Given the description of an element on the screen output the (x, y) to click on. 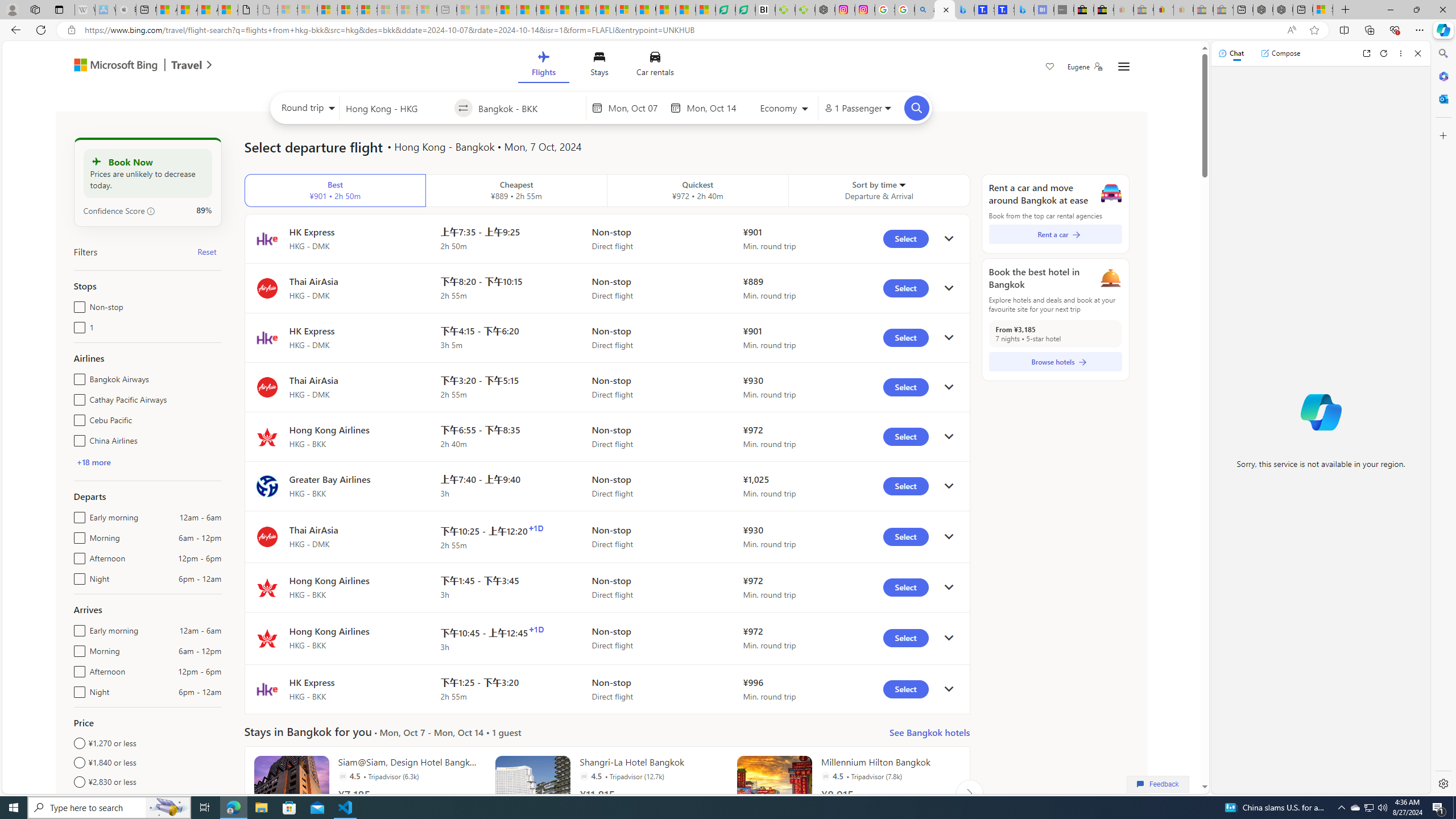
Microsoft Bing Travel (130, 65)
US Heat Deaths Soared To Record High Last Year (646, 9)
Afternoon12pm - 6pm (76, 669)
Sorter (901, 184)
1 Passenger (857, 108)
Class: trvl-hub-header nofilter (601, 65)
China Airlines (76, 438)
Compose (1280, 52)
